Given the description of an element on the screen output the (x, y) to click on. 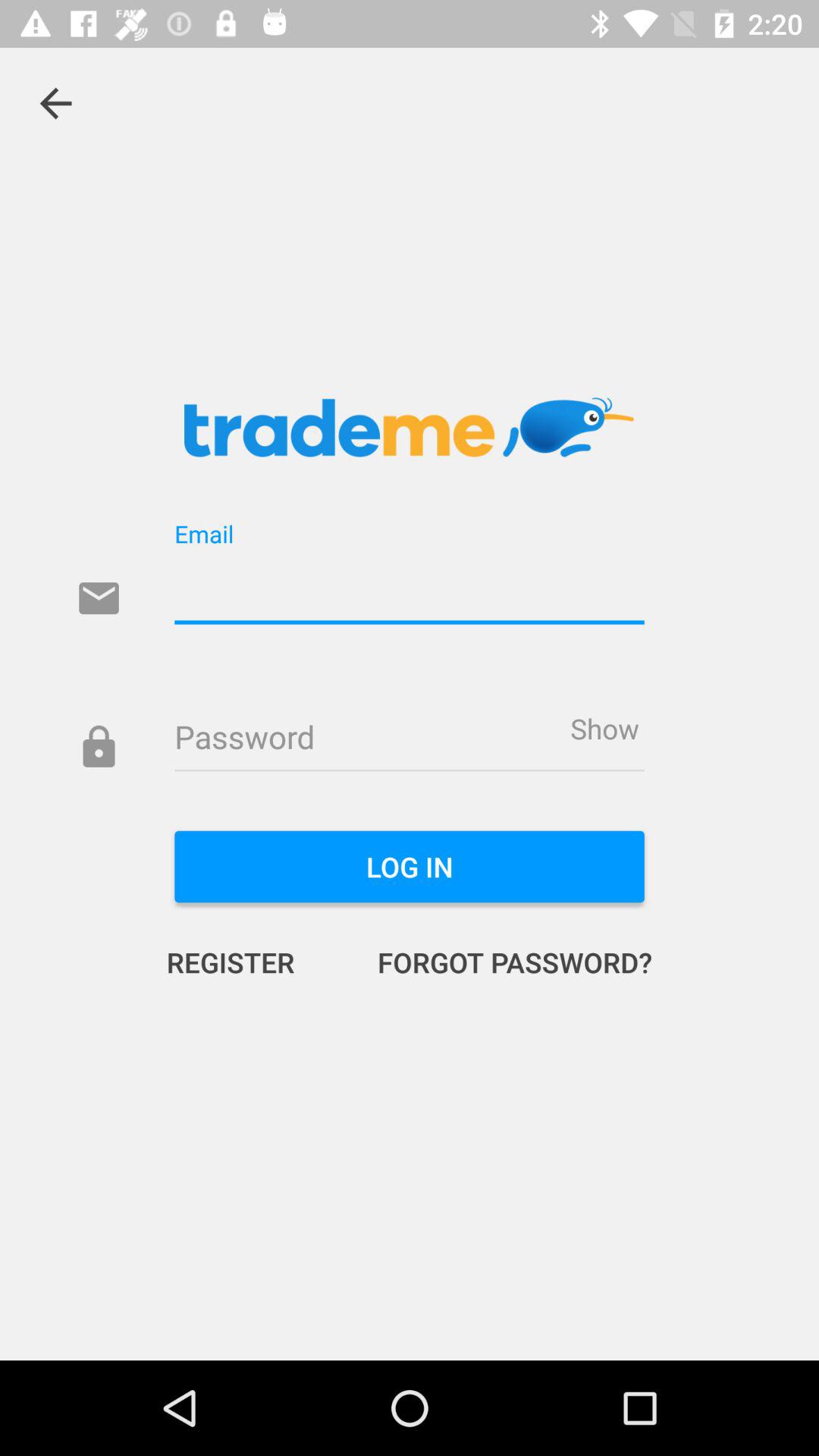
open item above the register icon (409, 866)
